Given the description of an element on the screen output the (x, y) to click on. 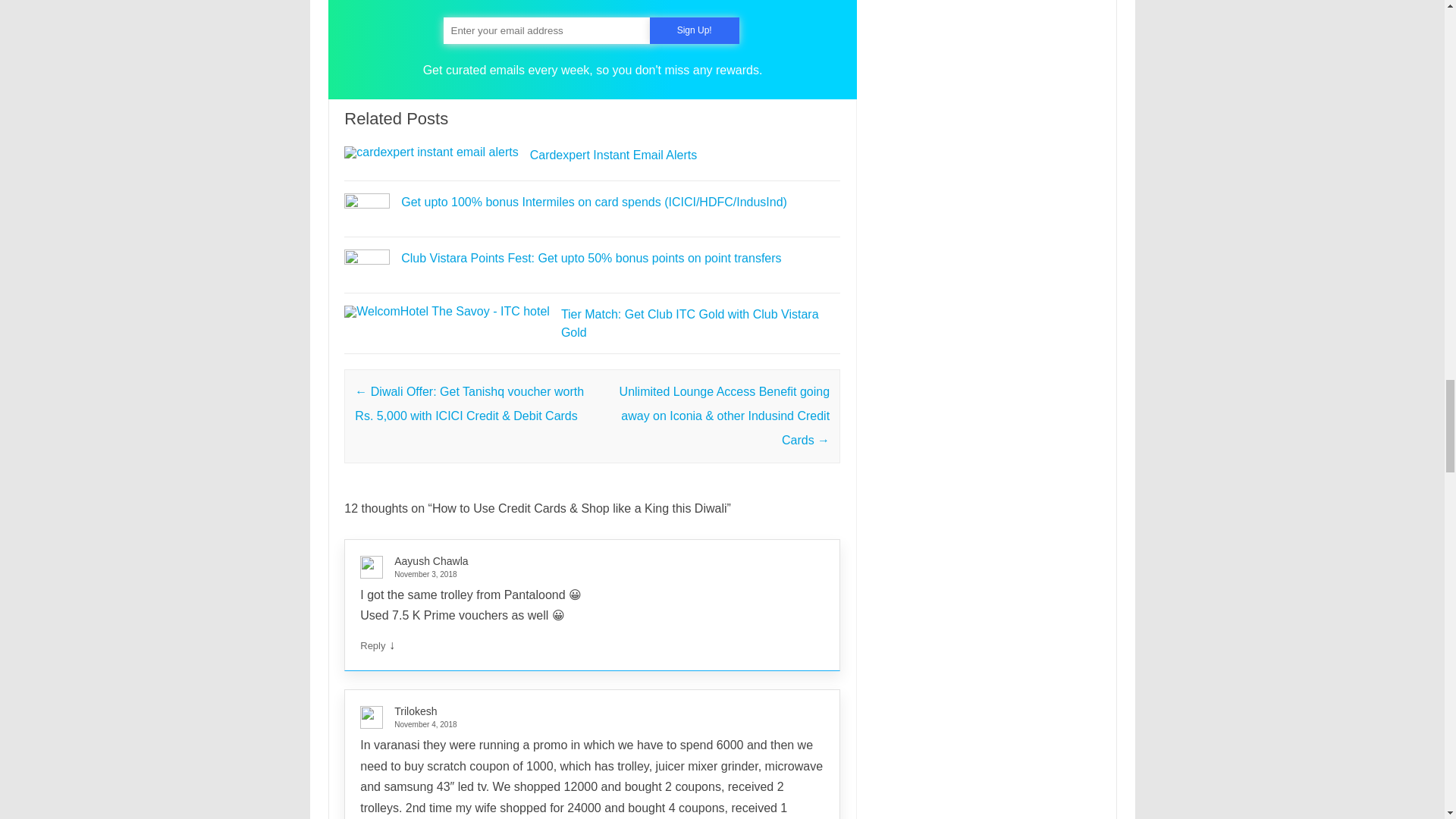
Cardexpert Instant Email Alerts (613, 154)
Tier Match: Get Club ITC Gold with Club Vistara Gold (689, 323)
Sign Up! (694, 30)
Sign Up! (694, 30)
Cardexpert Instant Email Alerts (430, 151)
Tier Match: Get Club ITC Gold with Club Vistara Gold (446, 310)
